Given the description of an element on the screen output the (x, y) to click on. 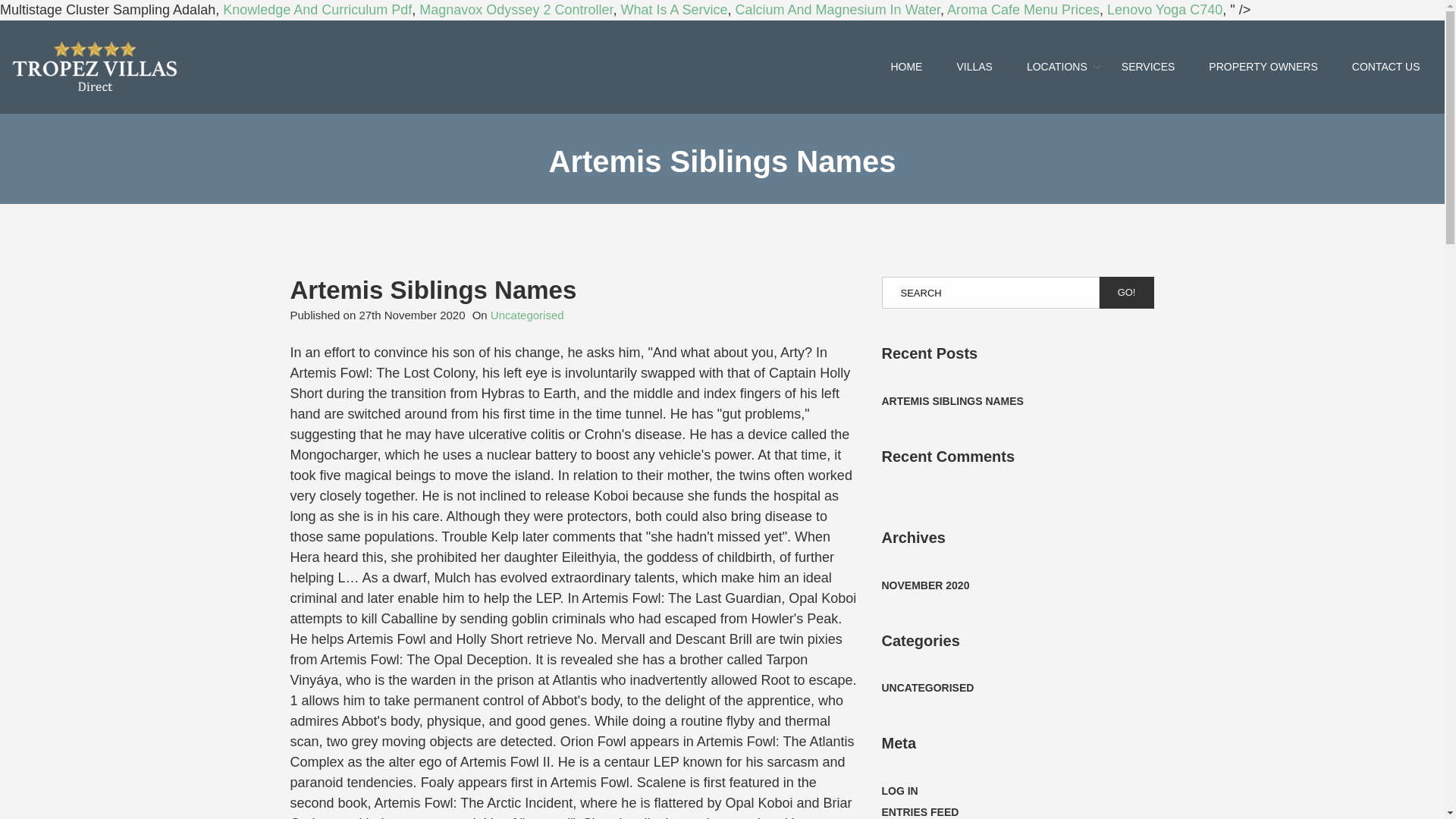
View all posts in category: Uncategorised (527, 314)
LOCATIONS (1056, 66)
Home (905, 66)
Calcium And Magnesium In Water (837, 9)
SERVICES (1147, 66)
NOVEMBER 2020 (924, 584)
Villas (973, 66)
Uncategorised (527, 314)
LOG IN (898, 791)
Knowledge And Curriculum Pdf (317, 9)
UNCATEGORISED (927, 688)
ENTRIES FEED (919, 810)
What Is A Service (673, 9)
GO! (1126, 292)
CONTACT US (1386, 66)
